Given the description of an element on the screen output the (x, y) to click on. 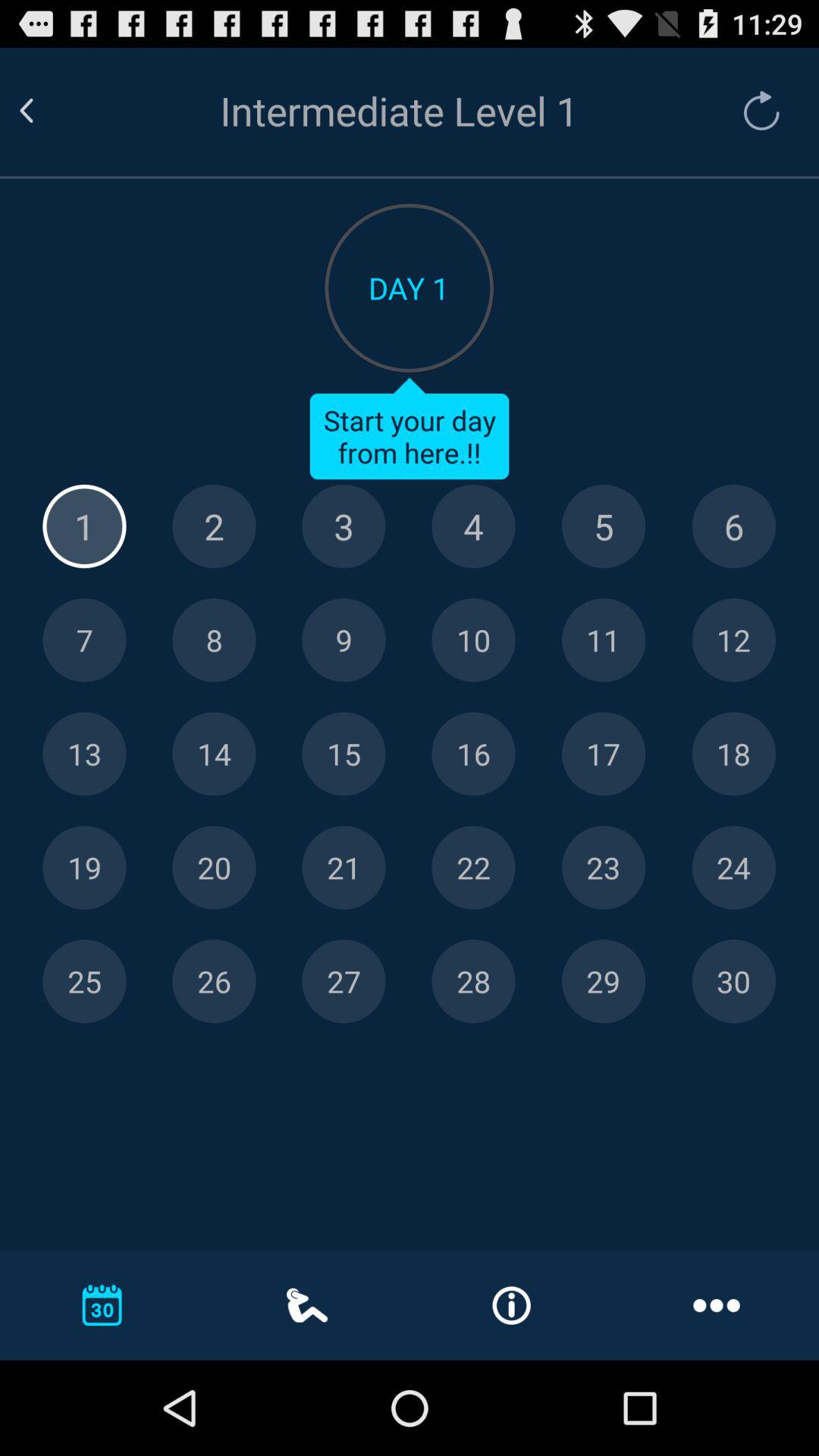
open the 24th day (733, 867)
